Given the description of an element on the screen output the (x, y) to click on. 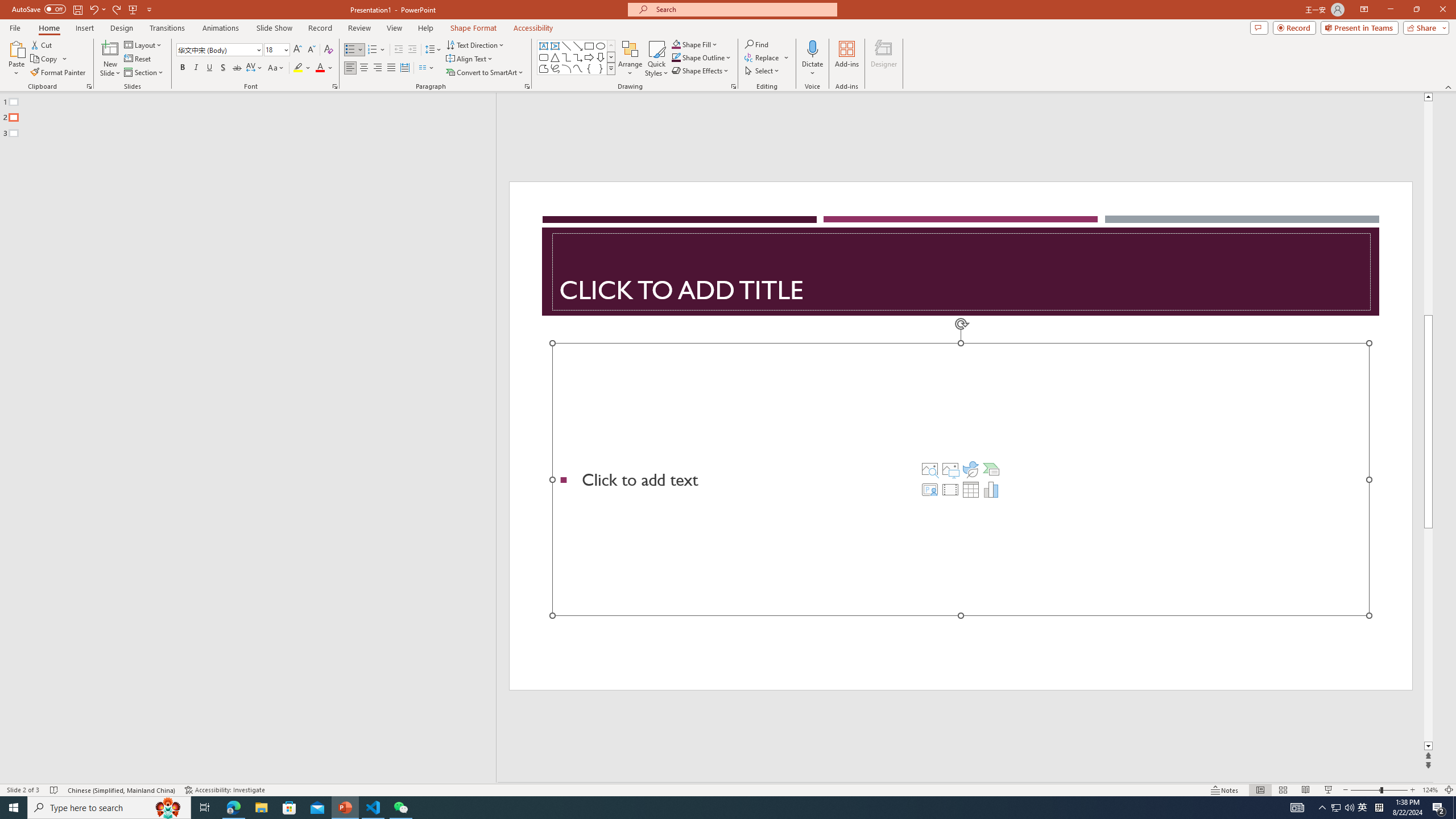
Content Placeholder (960, 479)
